Given the description of an element on the screen output the (x, y) to click on. 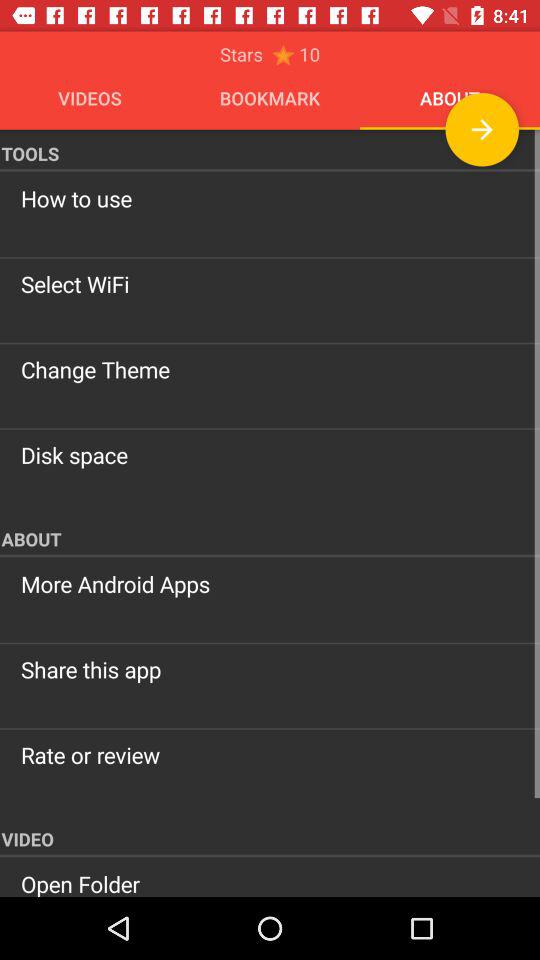
swipe until rate or review icon (270, 755)
